Given the description of an element on the screen output the (x, y) to click on. 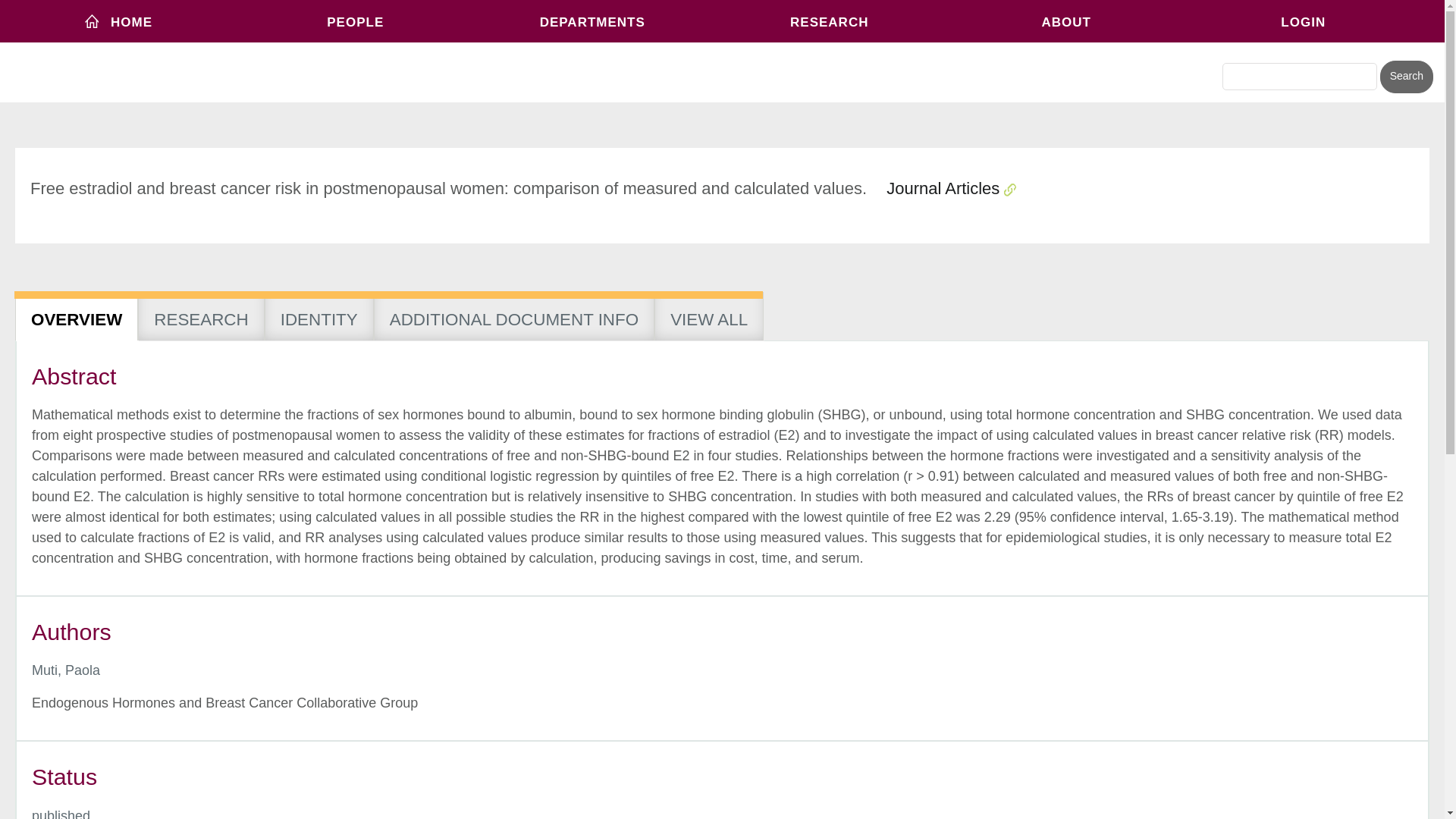
Muti, Paola (66, 670)
PEOPLE (355, 21)
name (61, 813)
Home menu item (118, 21)
HOME (118, 21)
author name (66, 670)
Search (1406, 76)
DEPARTMENTS (592, 21)
People menu item (355, 21)
About menu item (1066, 21)
LOGIN (1303, 21)
Research menu item (829, 21)
Search (1406, 76)
ABOUT (1066, 21)
Departments menu item (592, 21)
